Given the description of an element on the screen output the (x, y) to click on. 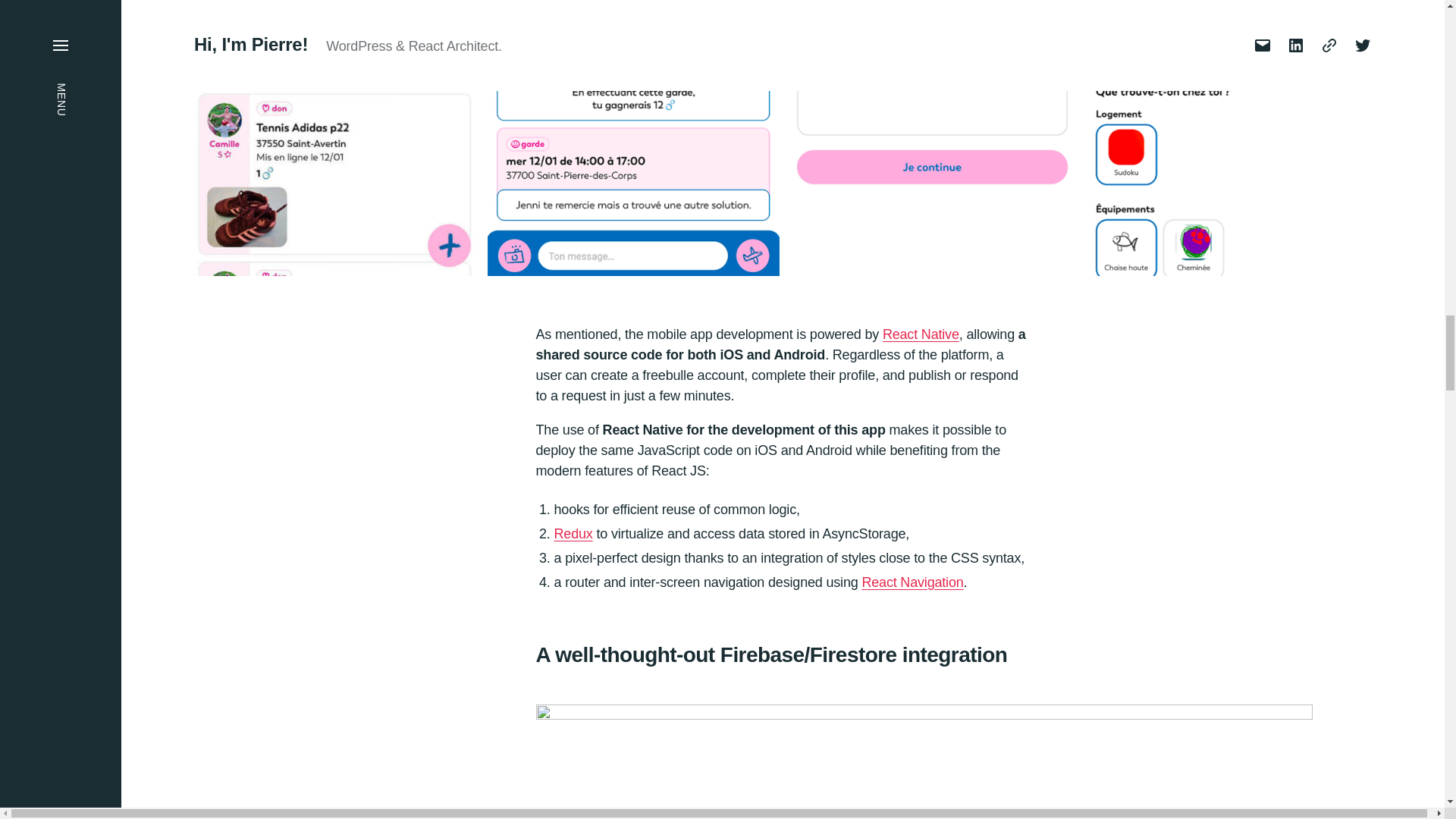
React Navigation (911, 581)
Redux (572, 533)
React Native (920, 334)
